Given the description of an element on the screen output the (x, y) to click on. 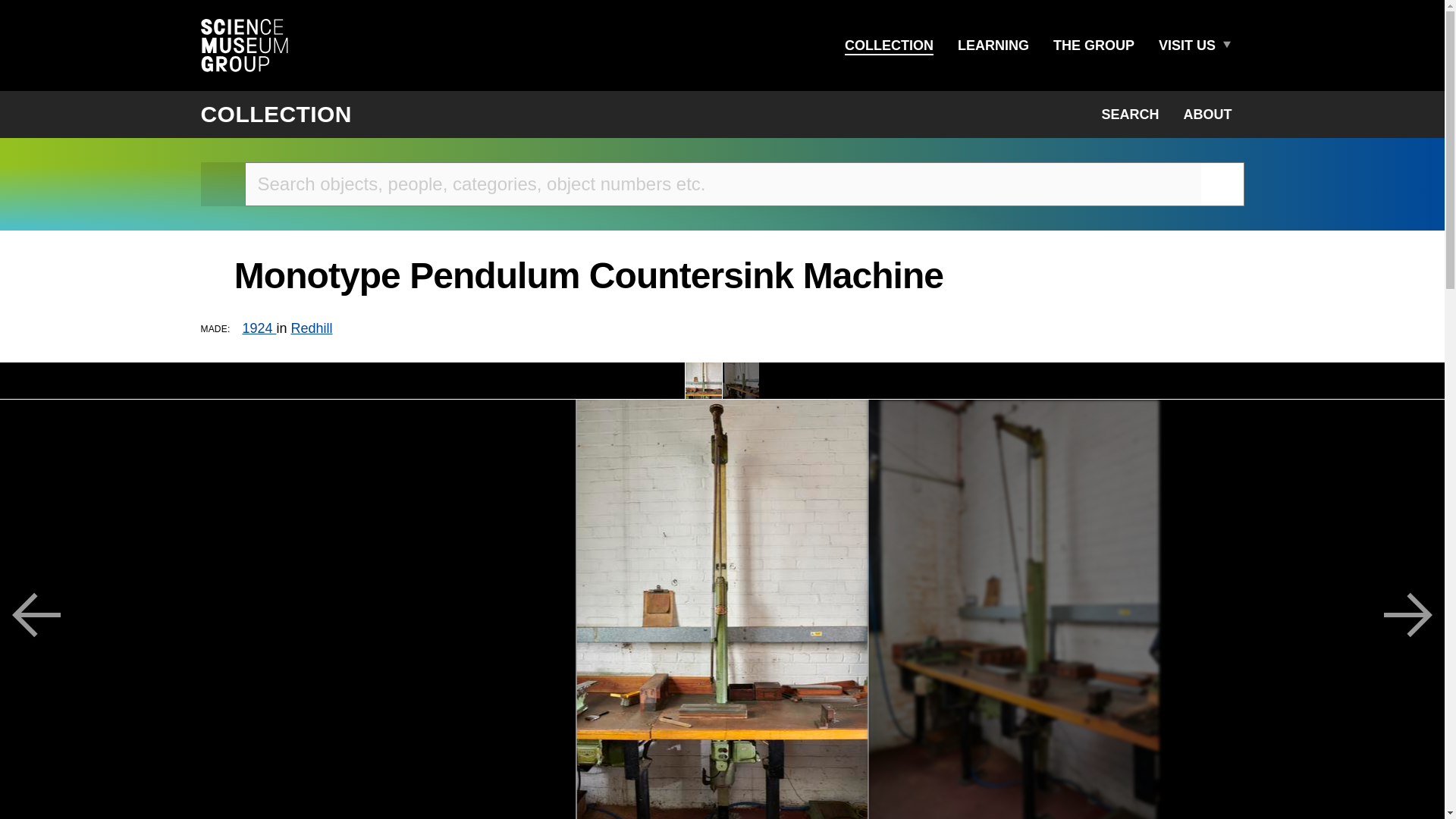
VISIT US (1187, 45)
ABOUT (1206, 114)
SEARCH (1129, 114)
THE GROUP (1094, 45)
LEARNING (992, 45)
COLLECTION (276, 113)
Redhill (310, 328)
COLLECTION (888, 45)
Back to the home page (222, 184)
1924 (258, 328)
